Given the description of an element on the screen output the (x, y) to click on. 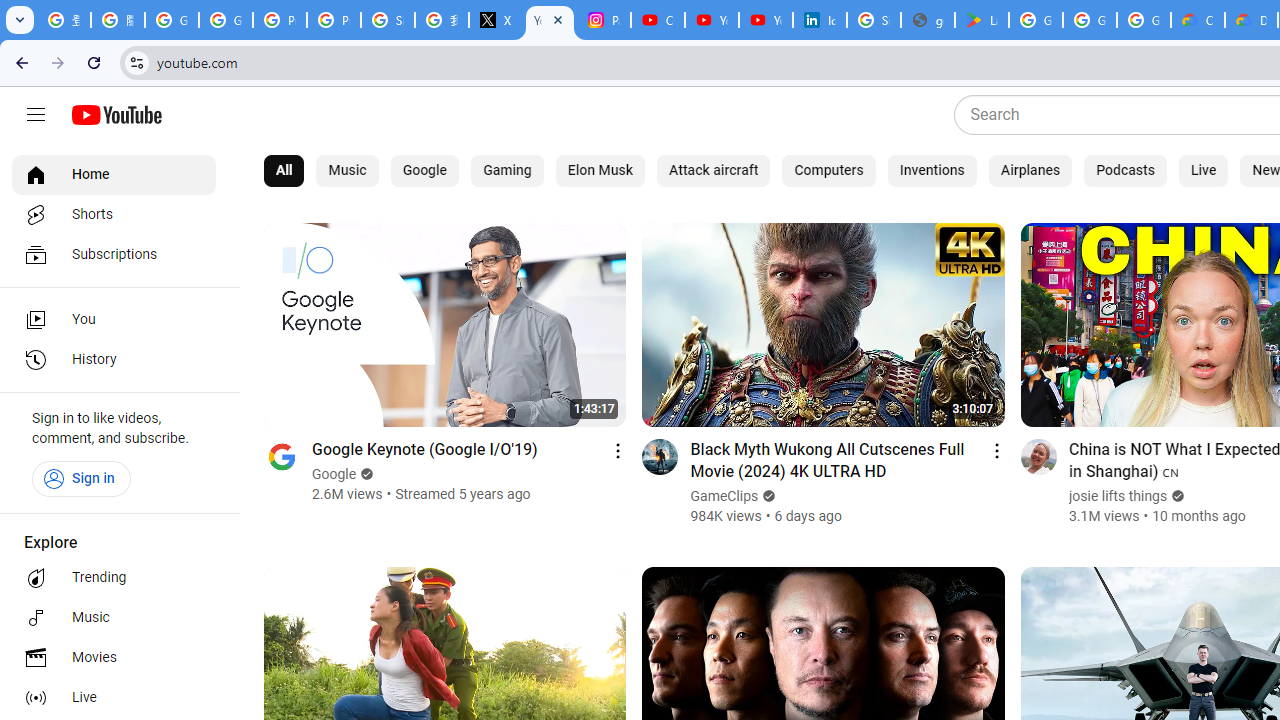
Customer Care | Google Cloud (1197, 20)
Google Workspace - Specific Terms (1144, 20)
Google (335, 474)
Movies (113, 657)
Action menu (996, 449)
Subscriptions (113, 254)
Identity verification via Persona | LinkedIn Help (819, 20)
Computers (828, 170)
Sign in - Google Accounts (387, 20)
Last Shelter: Survival - Apps on Google Play (981, 20)
YouTube - Audio playing (550, 20)
